Given the description of an element on the screen output the (x, y) to click on. 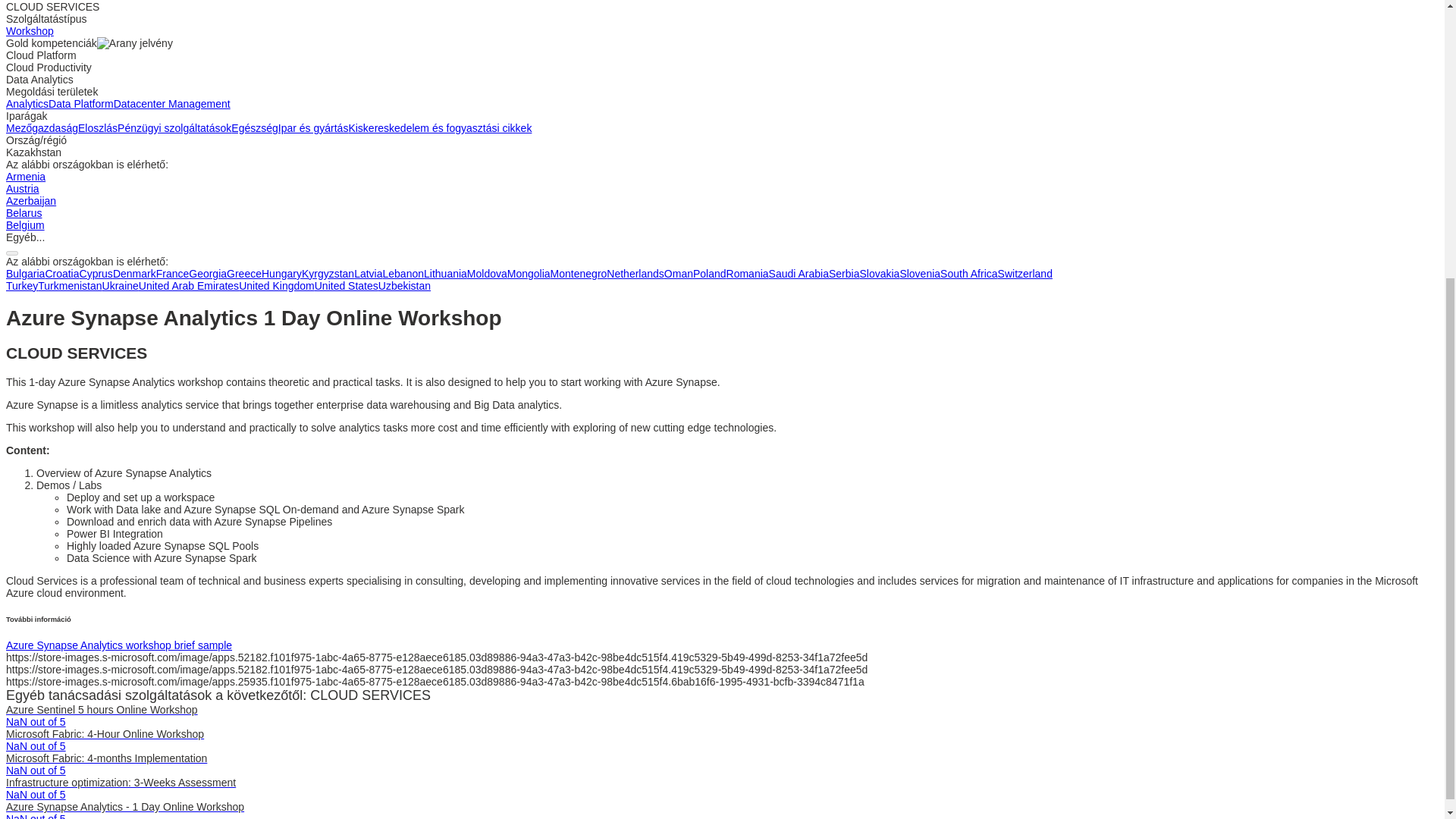
Datacenter Management (171, 103)
Microsoft Fabric: 4-months Implementation (105, 758)
Azerbaijan (30, 200)
Armenia (25, 176)
Bulgaria (25, 273)
Azure Sentinel 5 hours Online Workshop (101, 709)
Workshop (29, 30)
Analytics (26, 103)
Infrastructure optimization: 3-Weeks Assessment (120, 782)
Azure Synapse Analytics - 1 Day Online Workshop (124, 806)
Austria (22, 188)
Data Platform (80, 103)
Croatia (61, 273)
Belarus (23, 213)
Belgium (25, 224)
